Given the description of an element on the screen output the (x, y) to click on. 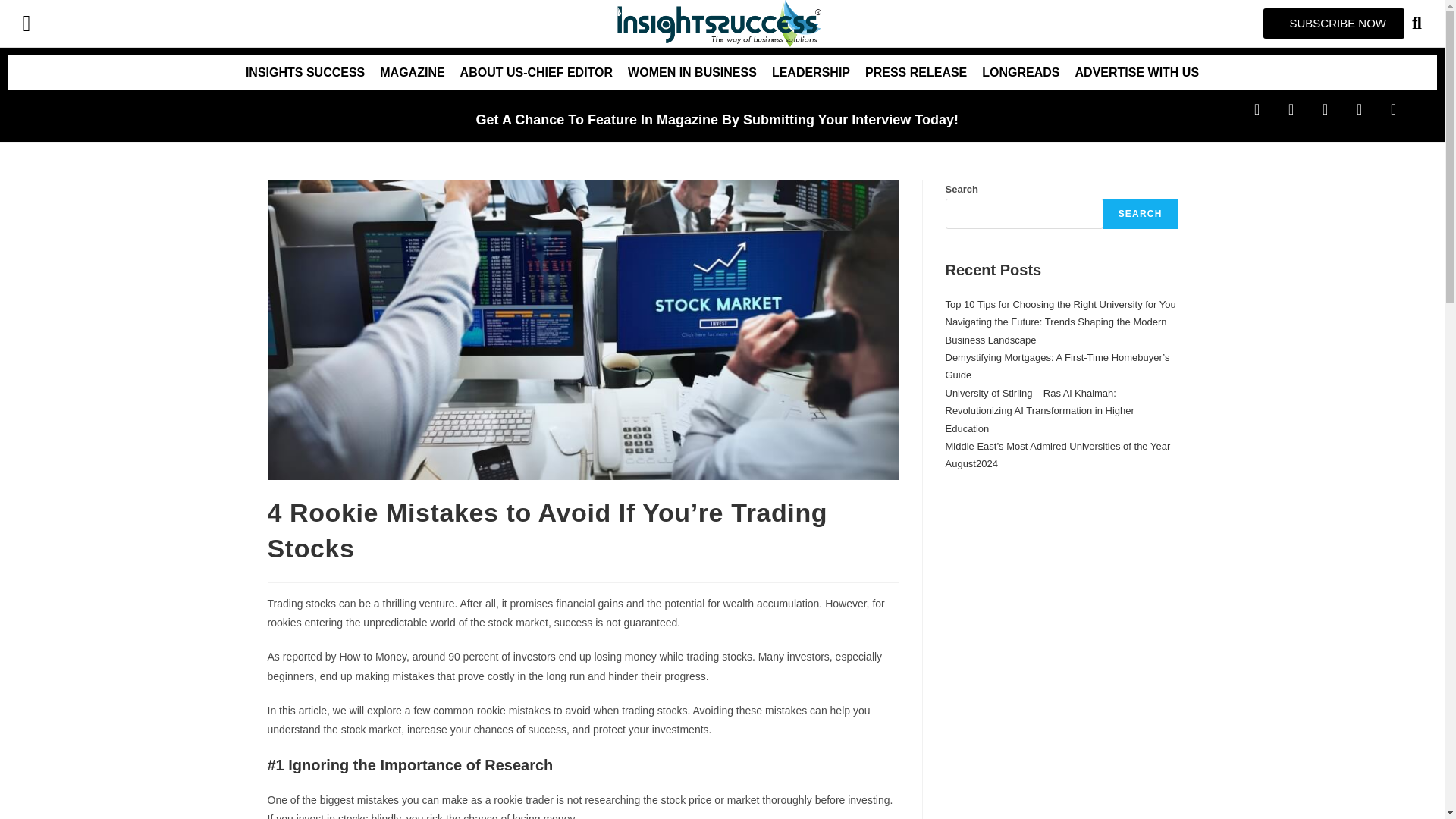
SEARCH (1140, 214)
WOMEN IN BUSINESS (692, 72)
LONGREADS (1020, 72)
ADVERTISE WITH US (1137, 72)
SUBSCRIBE NOW (1334, 23)
INSIGHTS SUCCESS (305, 72)
MAGAZINE (411, 72)
Top 10 Tips for Choosing the Right University for You (1059, 304)
ABOUT US-CHIEF EDITOR (536, 72)
